Given the description of an element on the screen output the (x, y) to click on. 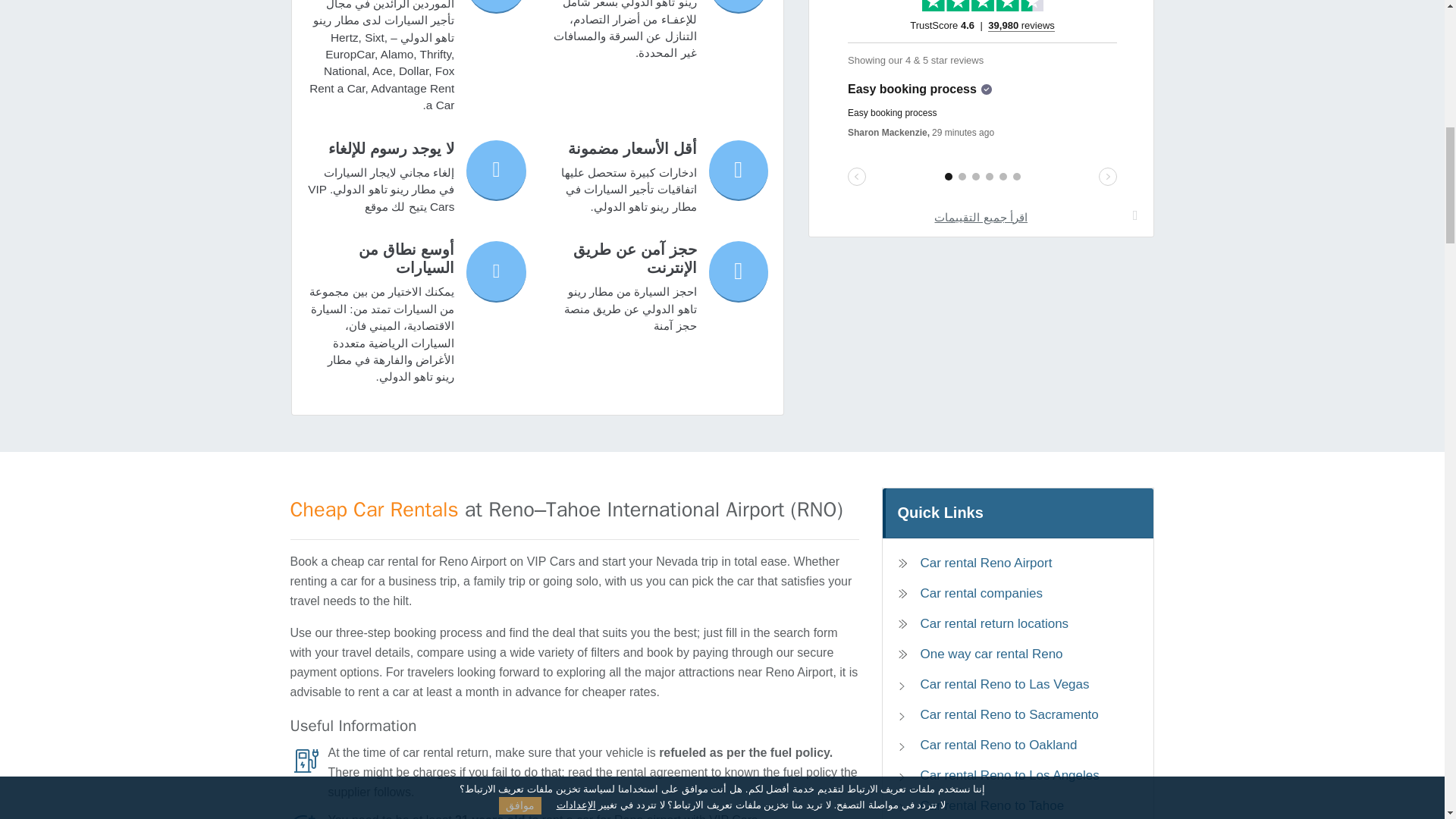
Car rental Reno to Los Angeles (1009, 774)
Car rental Reno to Oakland (1009, 744)
One way car rental Reno (1018, 653)
Car rental Reno to Las Vegas (1009, 683)
Customer reviews powered by Trustpilot (981, 103)
Car rental Reno Airport (1018, 562)
Car rental return locations (1018, 623)
Car rental Reno to Tahoe (1009, 805)
Car rental companies (1018, 592)
Car rental Reno to Sacramento (1009, 714)
